Given the description of an element on the screen output the (x, y) to click on. 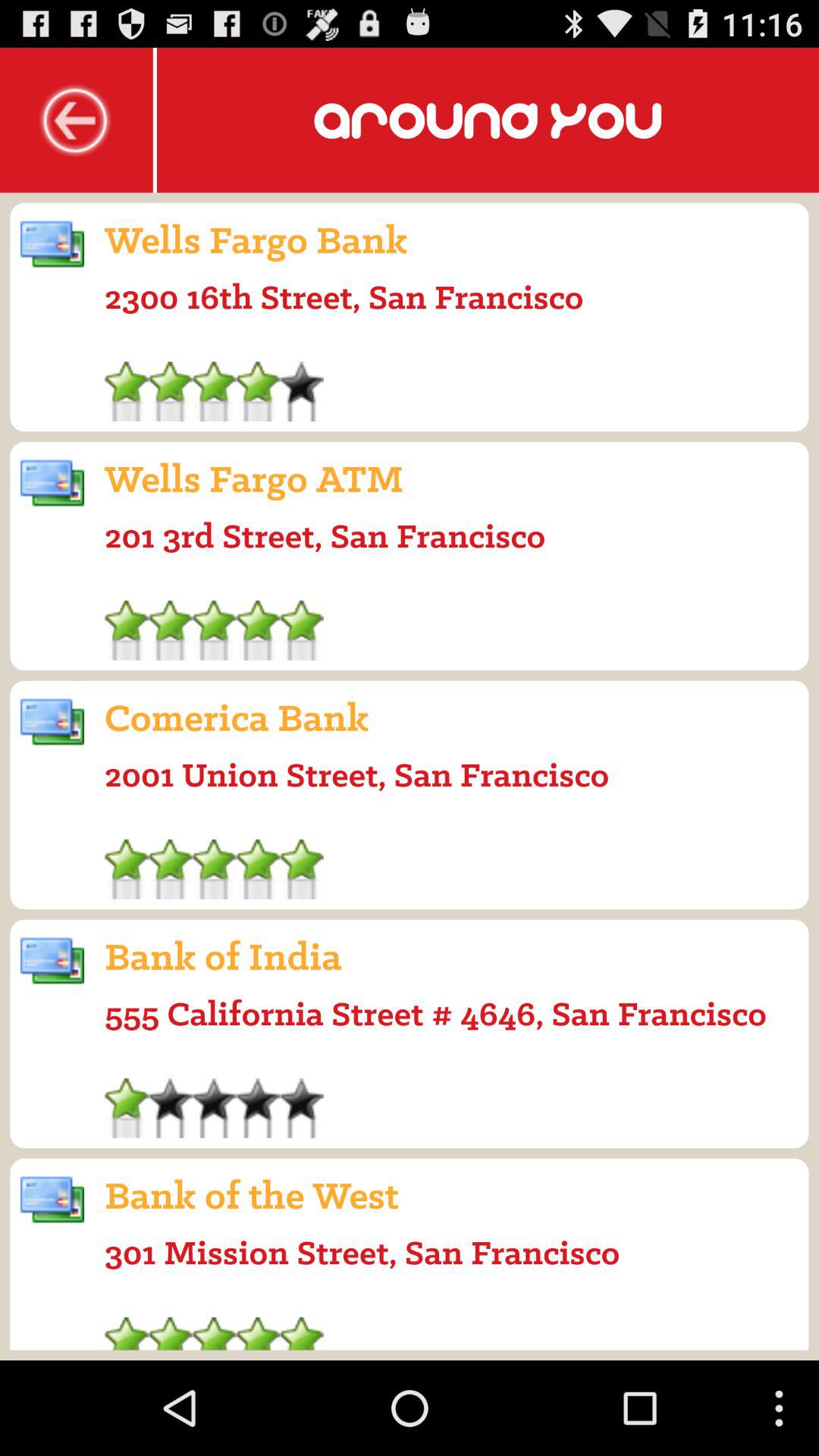
scroll until 2001 union street app (356, 774)
